Given the description of an element on the screen output the (x, y) to click on. 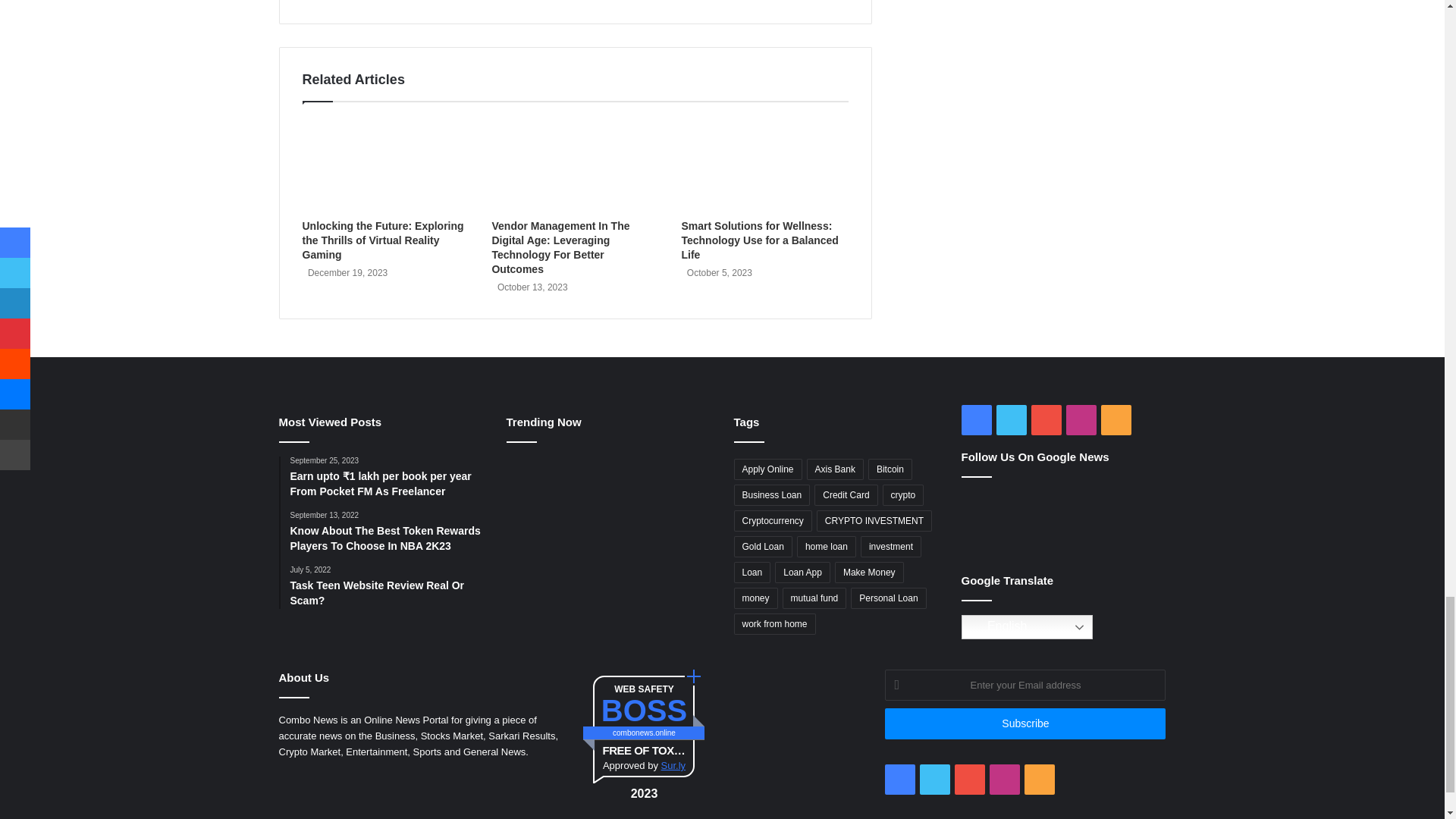
Subscribe (1025, 723)
